Given the description of an element on the screen output the (x, y) to click on. 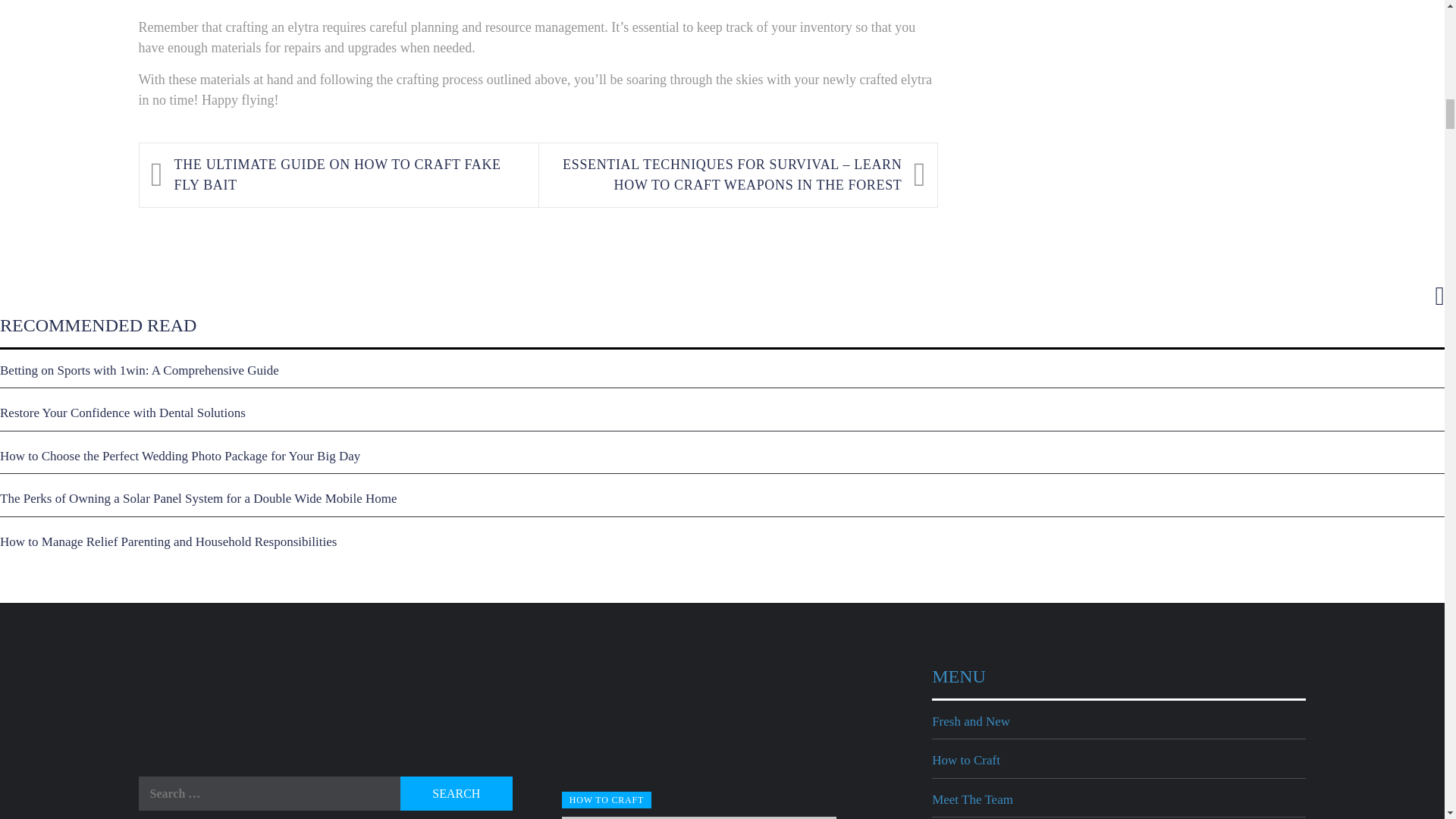
THE ULTIMATE GUIDE ON HOW TO CRAFT FAKE FLY BAIT (348, 174)
Search (456, 793)
Search (456, 793)
